Given the description of an element on the screen output the (x, y) to click on. 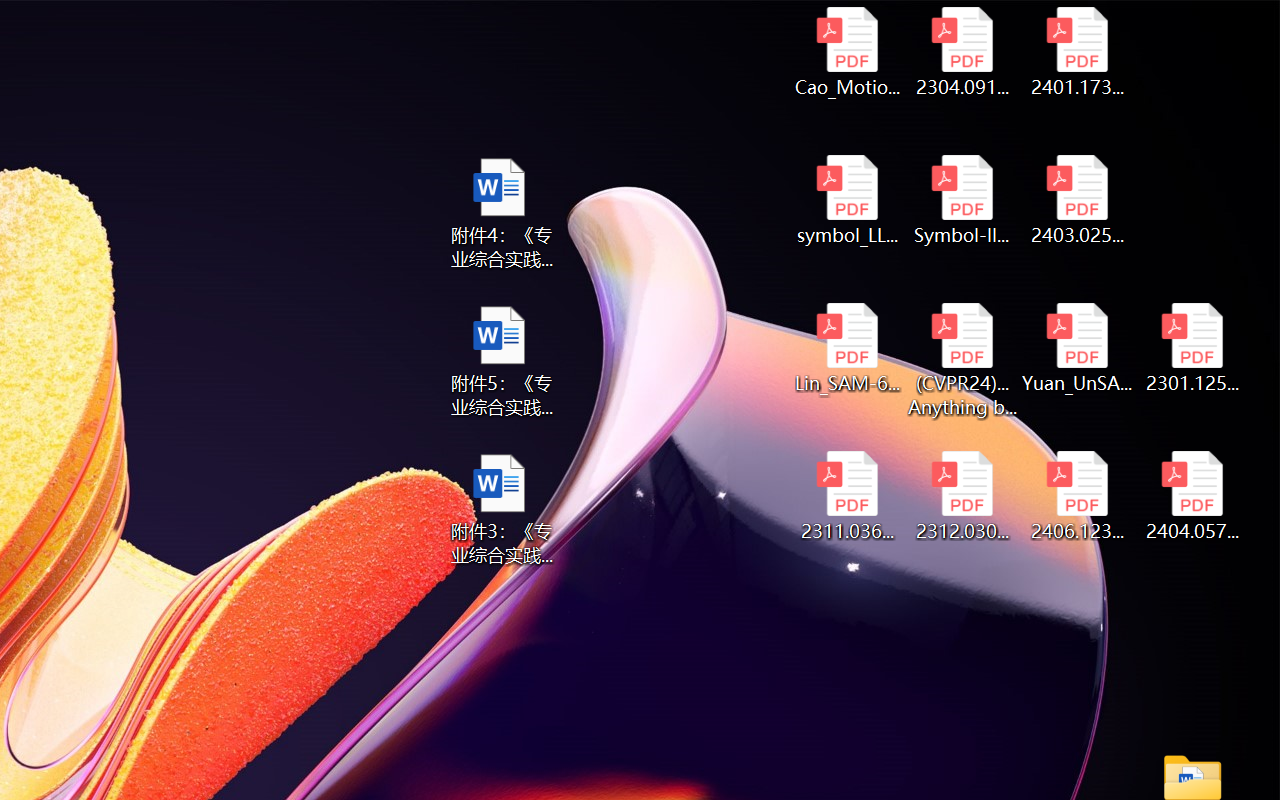
symbol_LLM.pdf (846, 200)
(CVPR24)Matching Anything by Segmenting Anything.pdf (962, 360)
